Given the description of an element on the screen output the (x, y) to click on. 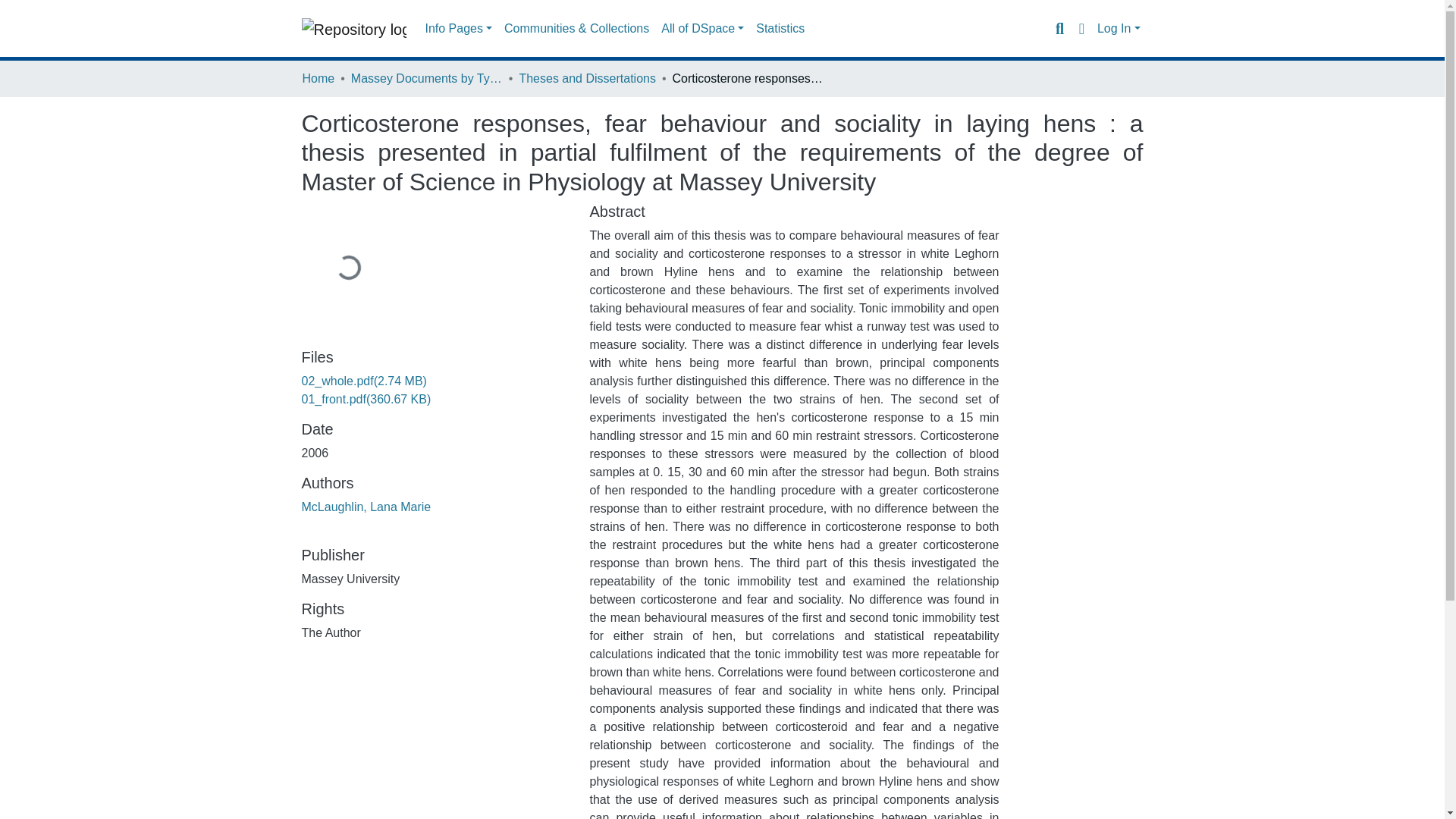
Statistics (779, 28)
Home (317, 78)
Massey Documents by Type (426, 78)
Log In (1118, 28)
McLaughlin, Lana Marie (365, 506)
Theses and Dissertations (587, 78)
All of DSpace (702, 28)
Statistics (779, 28)
Info Pages (458, 28)
Language switch (1081, 28)
